Given the description of an element on the screen output the (x, y) to click on. 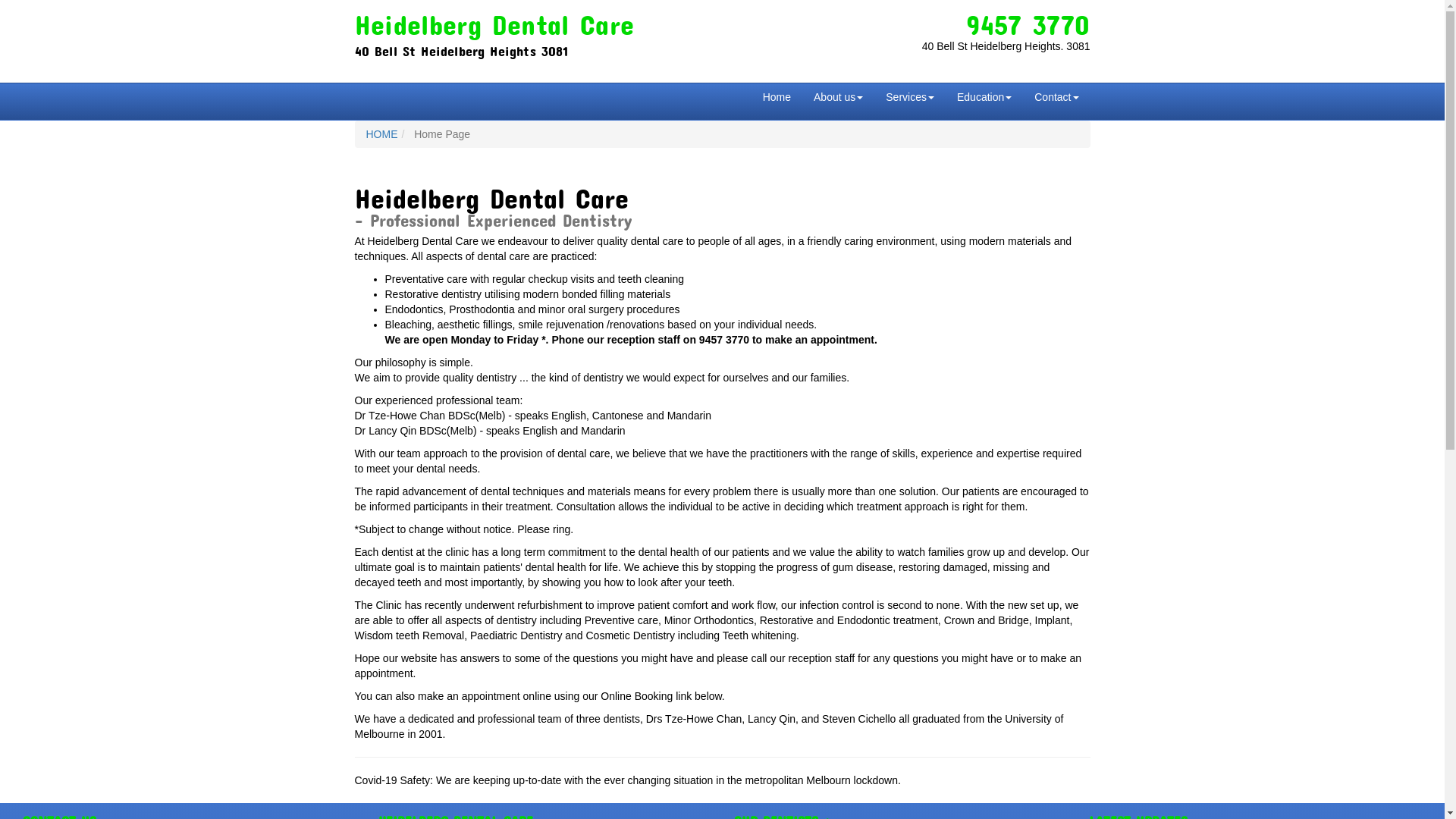
Contact Element type: text (1056, 96)
Heidelberg Dental Care Element type: text (494, 18)
HOME Element type: text (381, 134)
Services Element type: text (909, 96)
9457 3770 Element type: text (1027, 18)
Home Element type: text (776, 96)
Education Element type: text (984, 96)
About us Element type: text (837, 96)
